Given the description of an element on the screen output the (x, y) to click on. 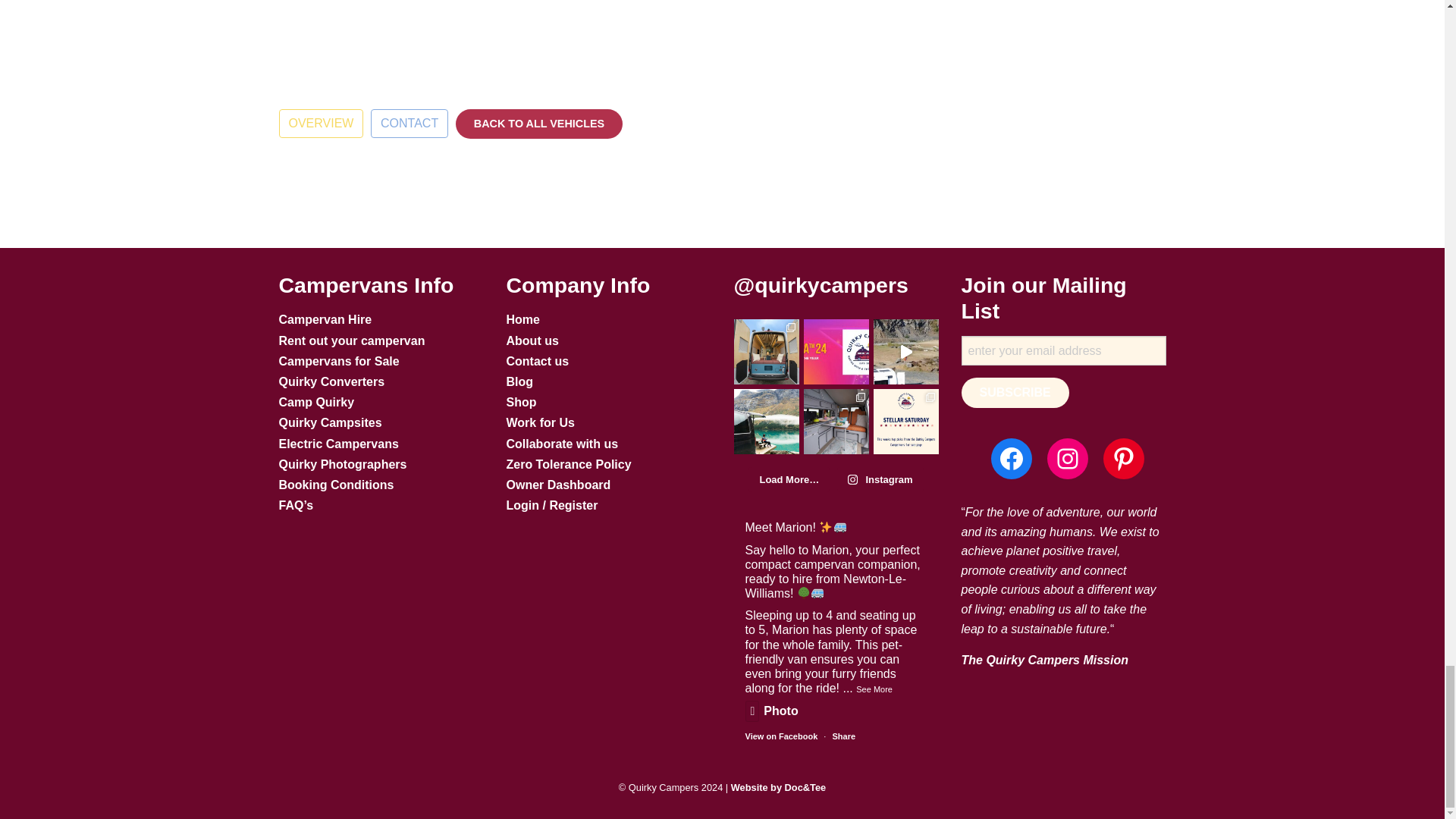
Subscribe (1014, 392)
View on Facebook (780, 736)
Share (843, 736)
